Given the description of an element on the screen output the (x, y) to click on. 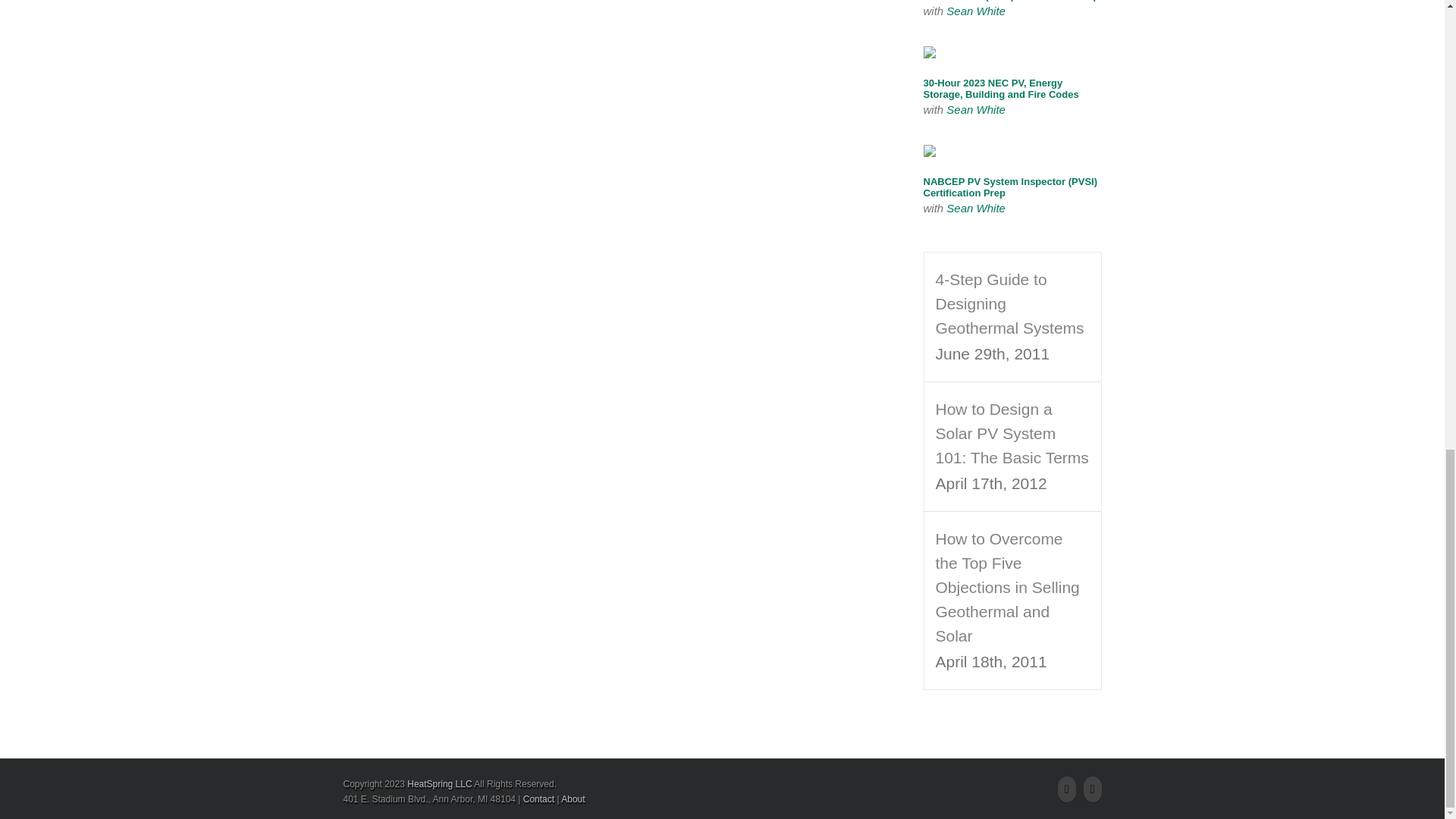
Rss (1066, 789)
Linkedin (1092, 789)
